Given the description of an element on the screen output the (x, y) to click on. 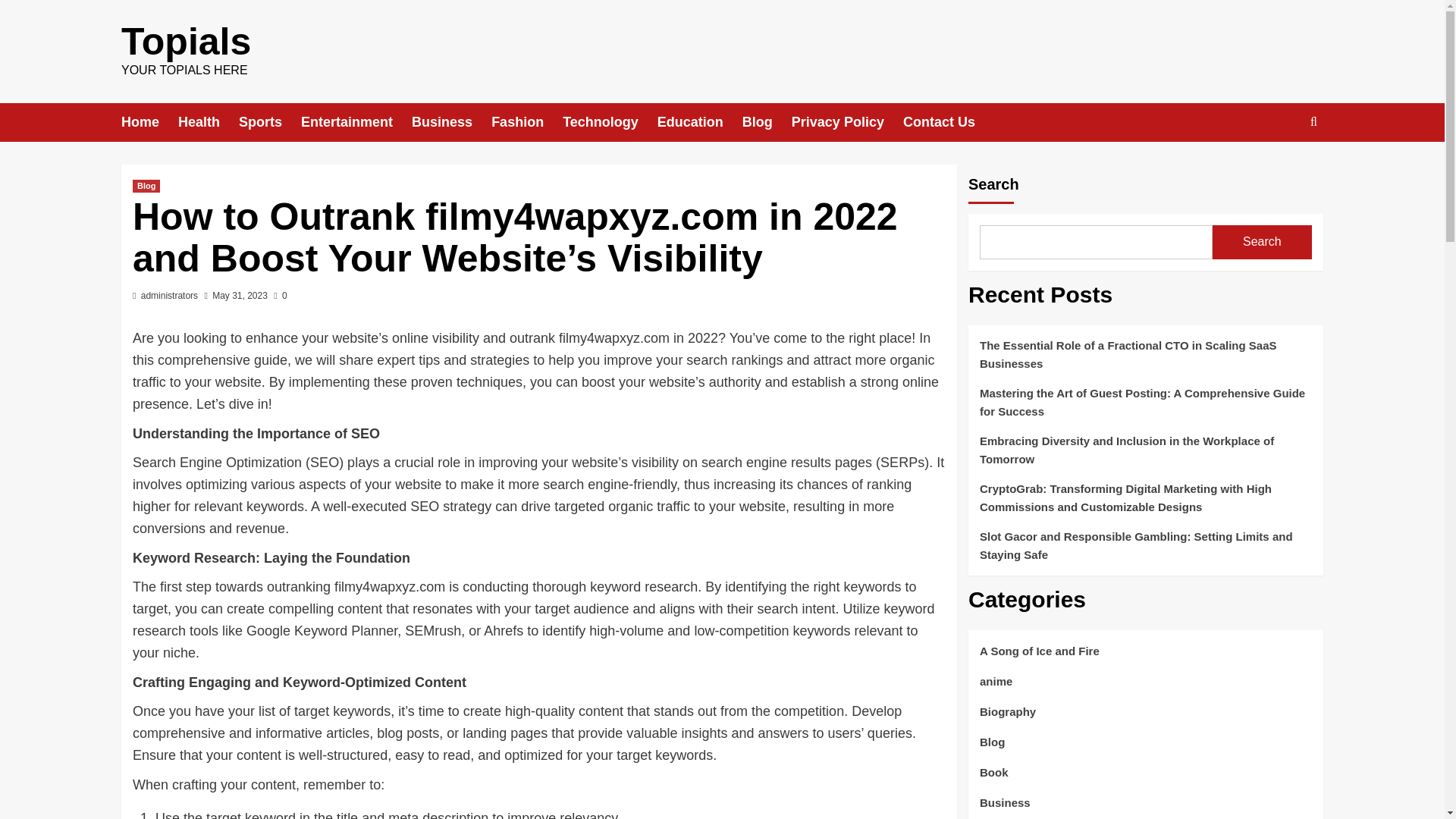
Technology (610, 122)
Contact Us (948, 122)
Entertainment (356, 122)
Education (700, 122)
Privacy Policy (847, 122)
Blog (146, 185)
Blog (767, 122)
May 31, 2023 (239, 295)
Health (207, 122)
Fashion (527, 122)
Business (452, 122)
Sports (269, 122)
Home (148, 122)
Search (1278, 168)
0 (279, 295)
